Given the description of an element on the screen output the (x, y) to click on. 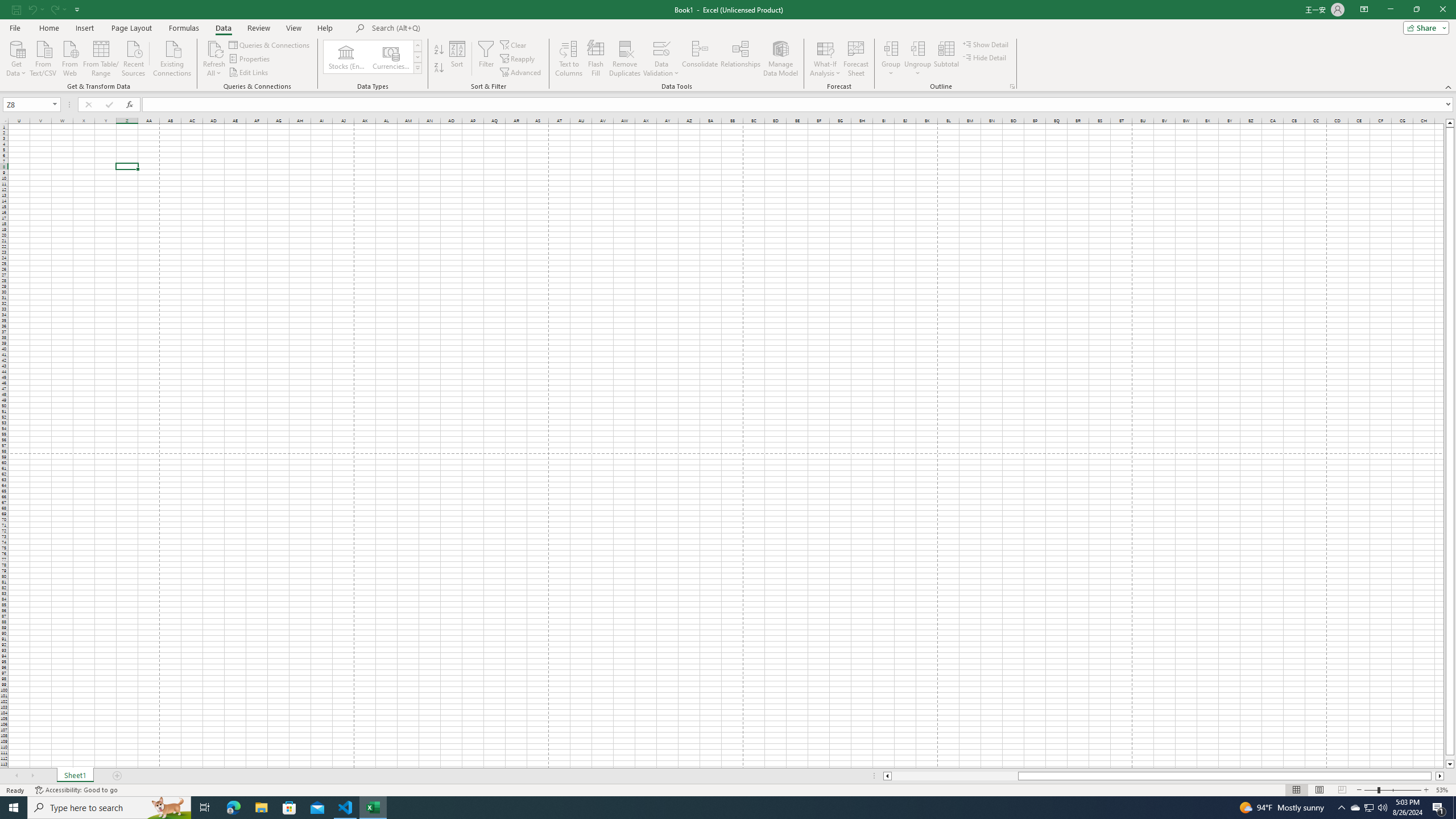
Properties (250, 58)
Currencies (English) (390, 56)
Manage Data Model (780, 58)
Reapply (517, 58)
Class: MsoCommandBar (728, 45)
